Given the description of an element on the screen output the (x, y) to click on. 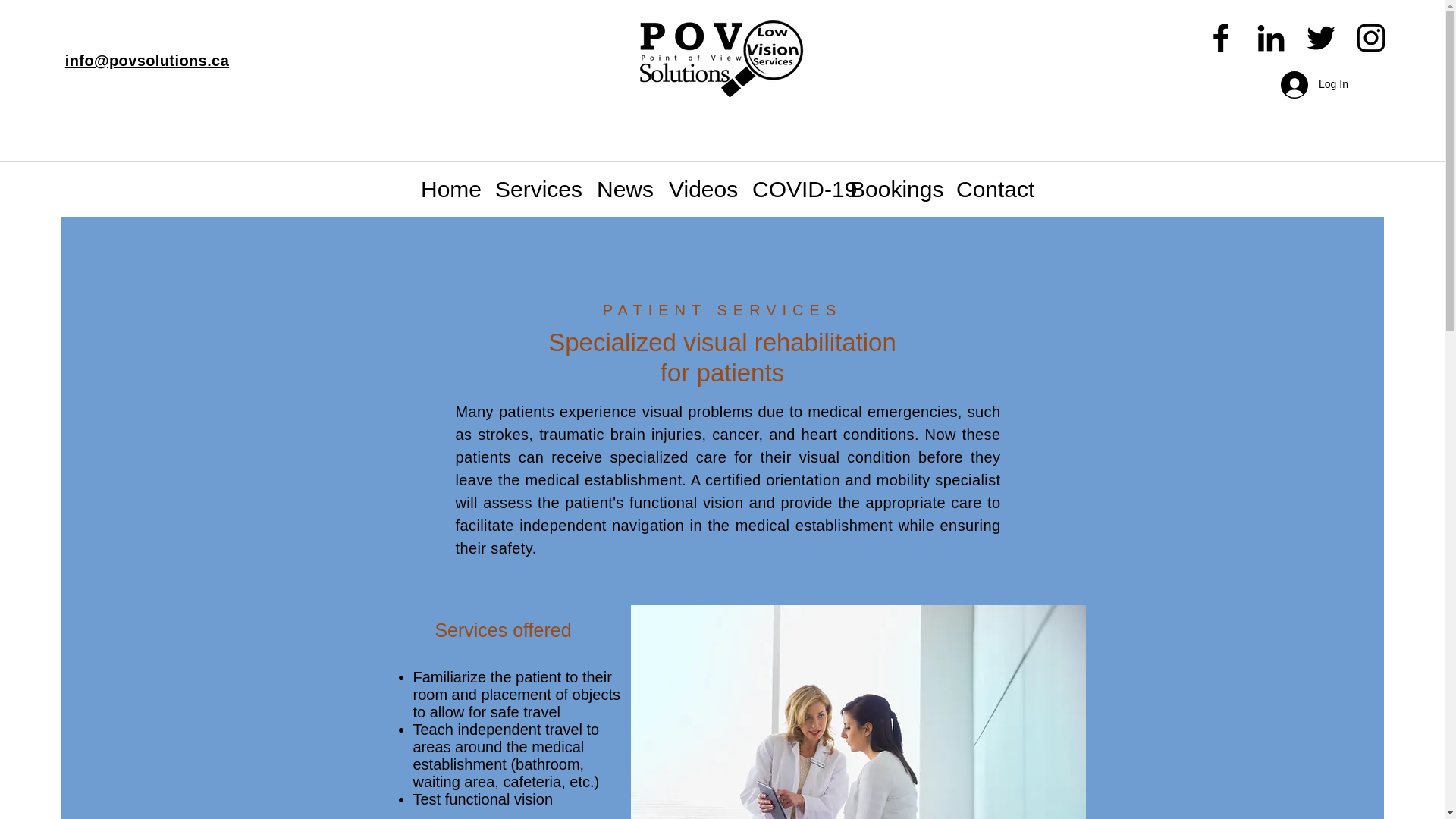
Contact (990, 189)
Home (446, 189)
COVID-19 (789, 189)
News (621, 189)
Bookings (891, 189)
Videos (699, 189)
POV Solutions Low Vision Services Logo (714, 54)
Log In (1304, 84)
